Given the description of an element on the screen output the (x, y) to click on. 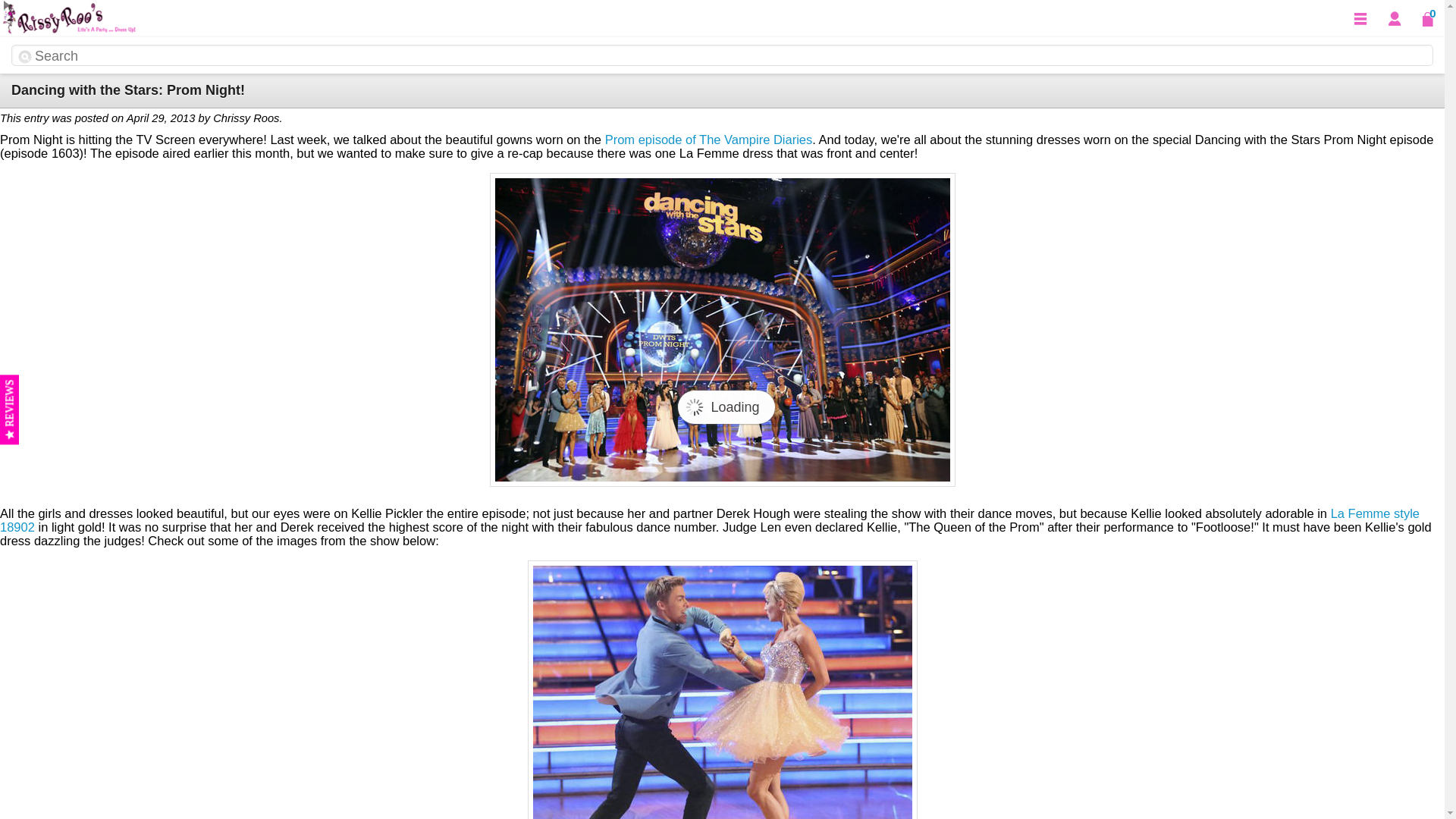
Kellie Pickler in La Femme 18902 on Dancing with the Stars (722, 689)
